Given the description of an element on the screen output the (x, y) to click on. 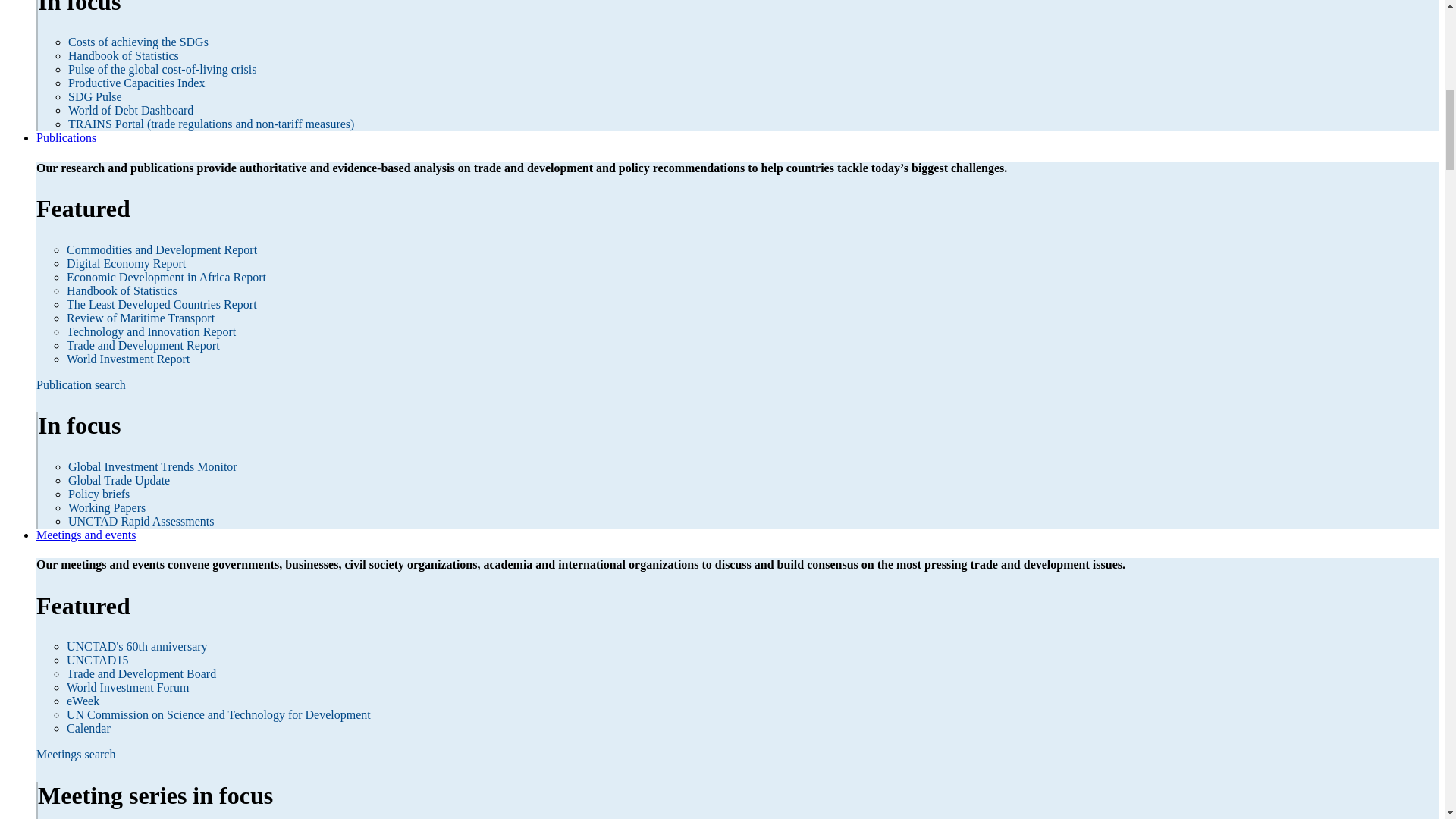
Handbook of Statistics (123, 55)
Costs of achieving the SDGs (138, 42)
